Given the description of an element on the screen output the (x, y) to click on. 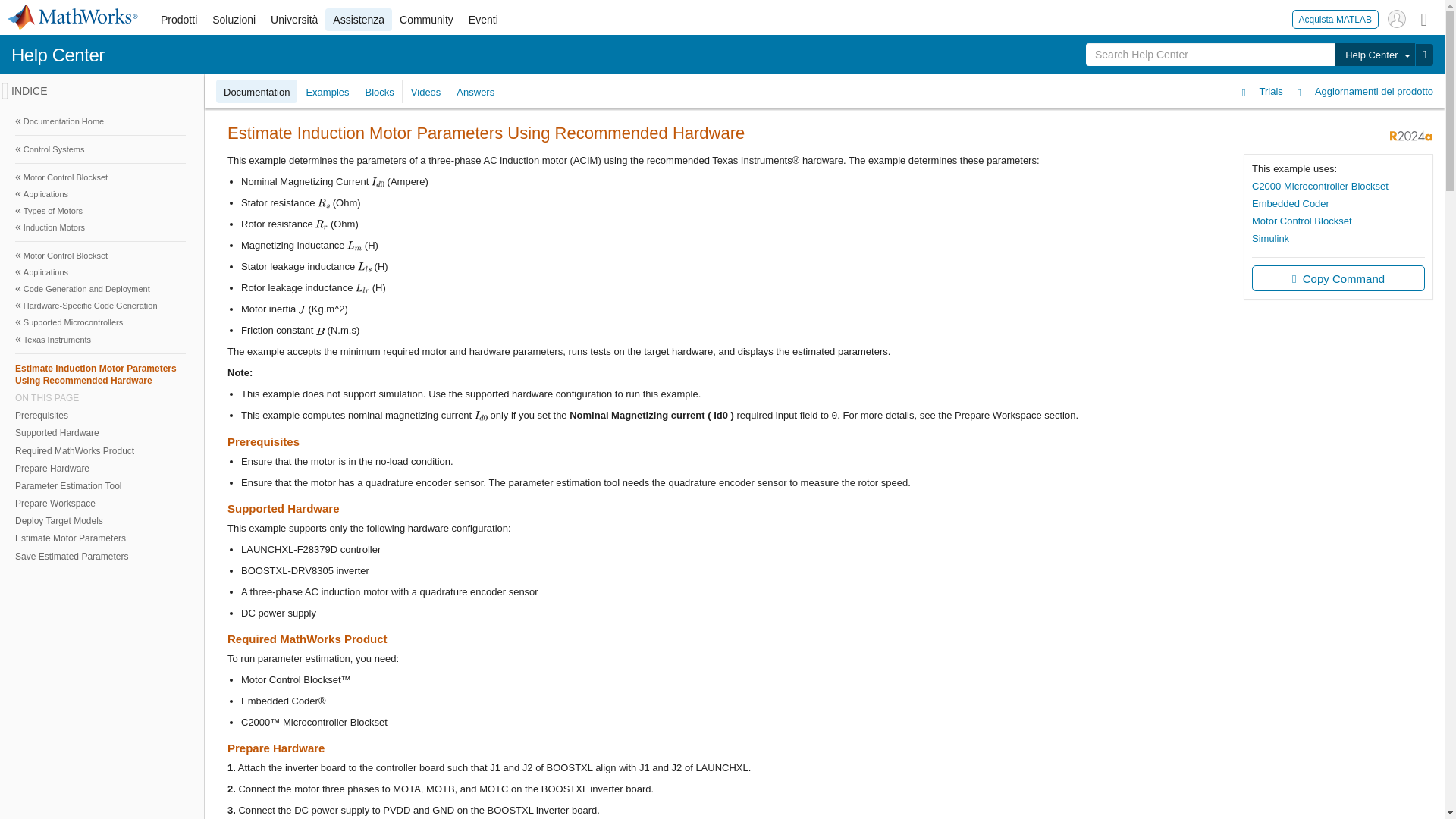
Eventi (483, 19)
Soluzioni (234, 19)
Prodotti (178, 19)
Accedere al proprio MathWorks Account (1396, 18)
ON THIS PAGE (100, 398)
Assistenza (357, 19)
Matrix Menu (1423, 18)
Community (426, 19)
Acquista MATLAB (1335, 18)
